Given the description of an element on the screen output the (x, y) to click on. 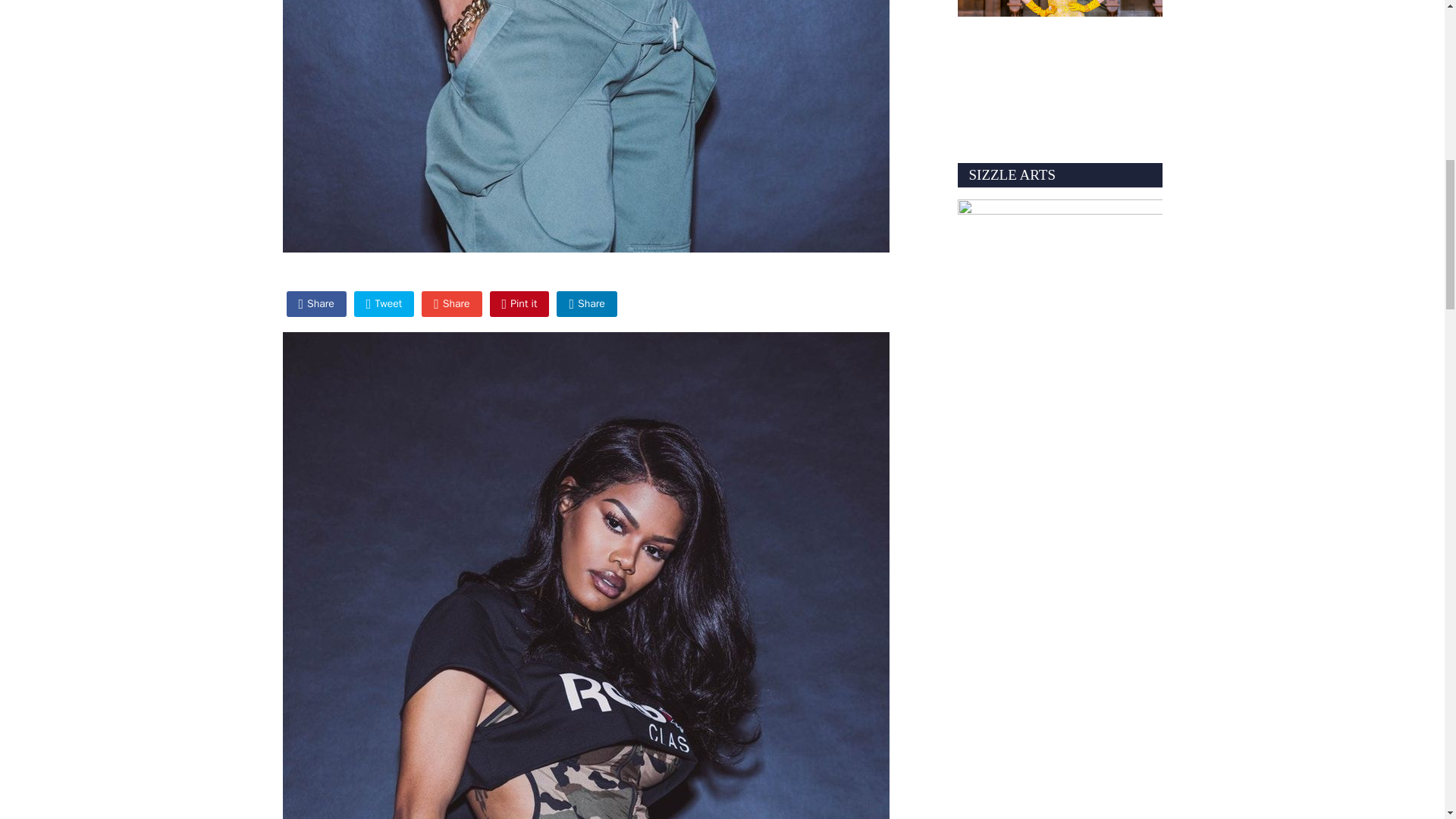
Share (316, 303)
Pint it (519, 303)
Tweet (383, 303)
Share (585, 303)
Share (451, 303)
